Given the description of an element on the screen output the (x, y) to click on. 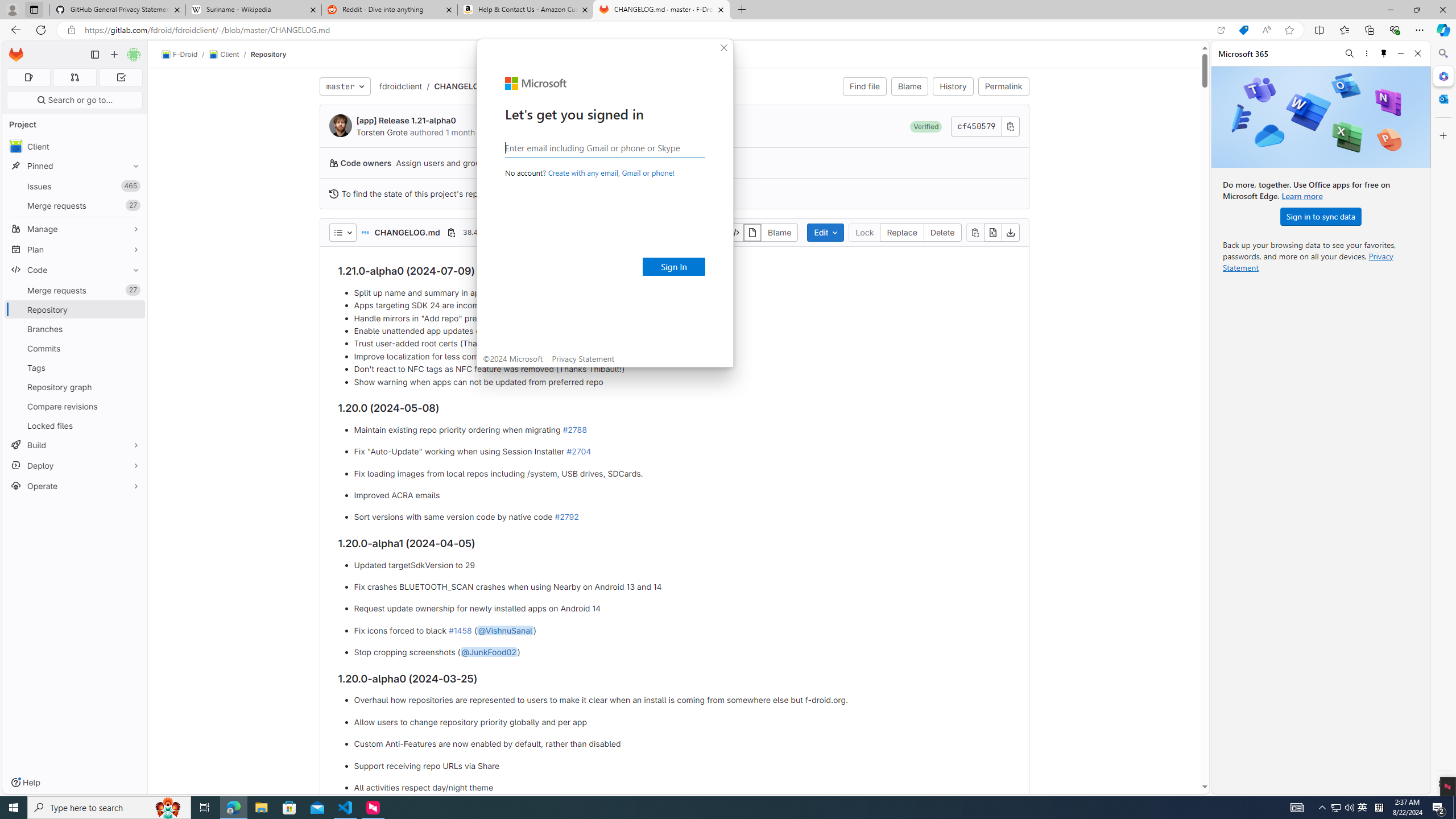
Open raw (991, 232)
Commits (74, 348)
Homepage (16, 54)
Plan (74, 248)
avatar Client (74, 145)
History (953, 85)
Unpin side pane (1383, 53)
AutomationID: 4105 (1297, 807)
Repository graph (74, 386)
F-Droid (179, 54)
Microsoft Edge - 1 running window (233, 807)
Type here to search (108, 807)
